Given the description of an element on the screen output the (x, y) to click on. 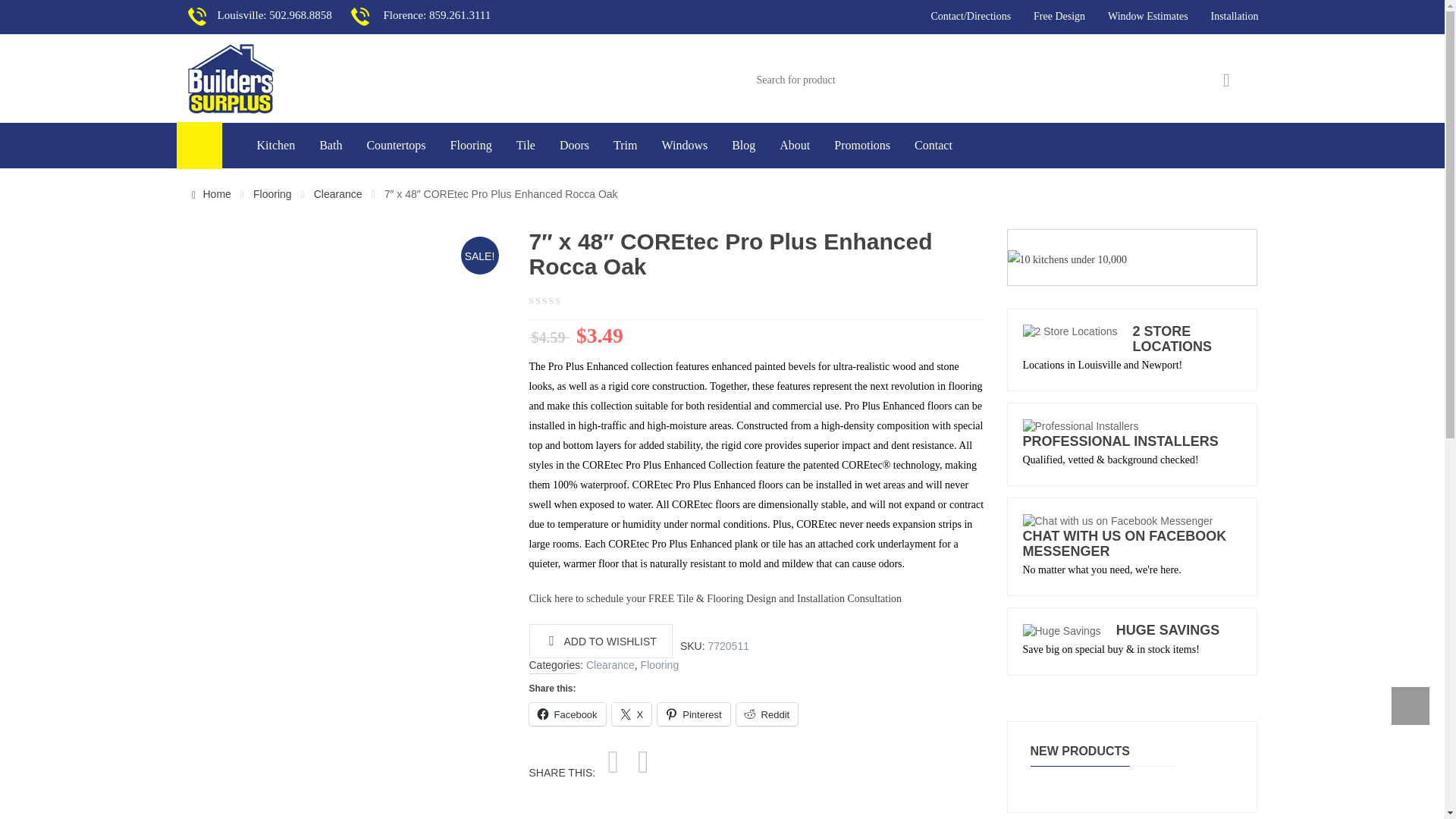
Builders Surplus (231, 78)
Louisville: 502.968.8858 (268, 15)
Florence: 859.261.3111 (430, 15)
Click to share on Pinterest (693, 713)
Rated 0 out of 5 (557, 300)
Home (209, 194)
SEARCH (1226, 80)
Click to share on Reddit (766, 713)
Click to share on Facebook (567, 713)
Click to share on X (631, 713)
